Given the description of an element on the screen output the (x, y) to click on. 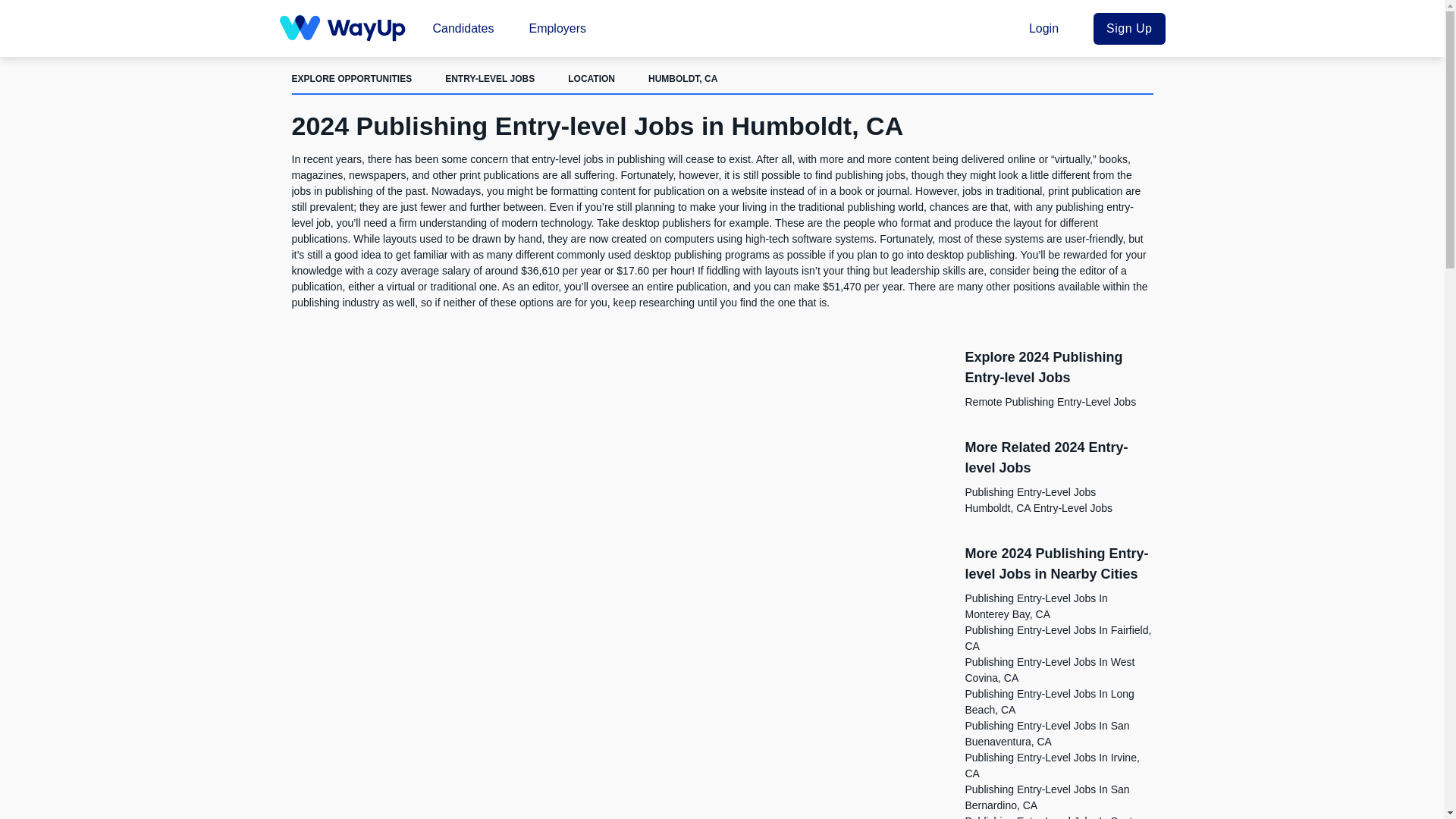
Sign Up (1128, 28)
Humboldt, CA Entry-Level Jobs (1037, 508)
Publishing Entry-Level Jobs In Monterey Bay, CA (1034, 605)
Sign Up (1128, 28)
Login (1048, 27)
Publishing Entry-Level Jobs In San Buenaventura, CA (1046, 733)
Publishing Entry-Level Jobs In Fairfield, CA (1057, 637)
Publishing Entry-Level Jobs (1029, 491)
Publishing Entry-Level Jobs In West Covina, CA (1048, 669)
EXPLORE OPPORTUNITIES (351, 78)
